Given the description of an element on the screen output the (x, y) to click on. 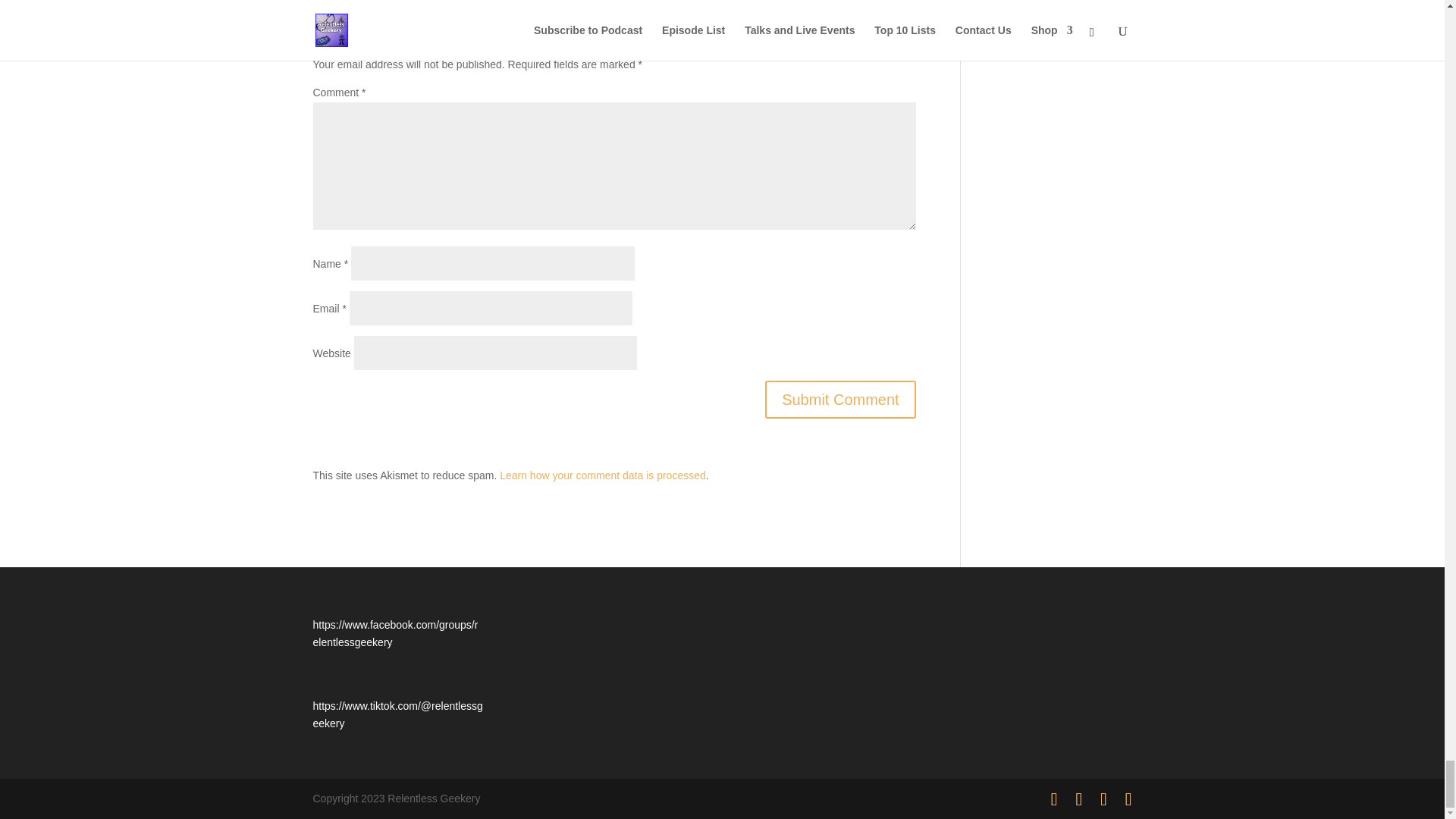
Submit Comment (840, 399)
Submit Comment (840, 399)
Learn how your comment data is processed (602, 475)
